Given the description of an element on the screen output the (x, y) to click on. 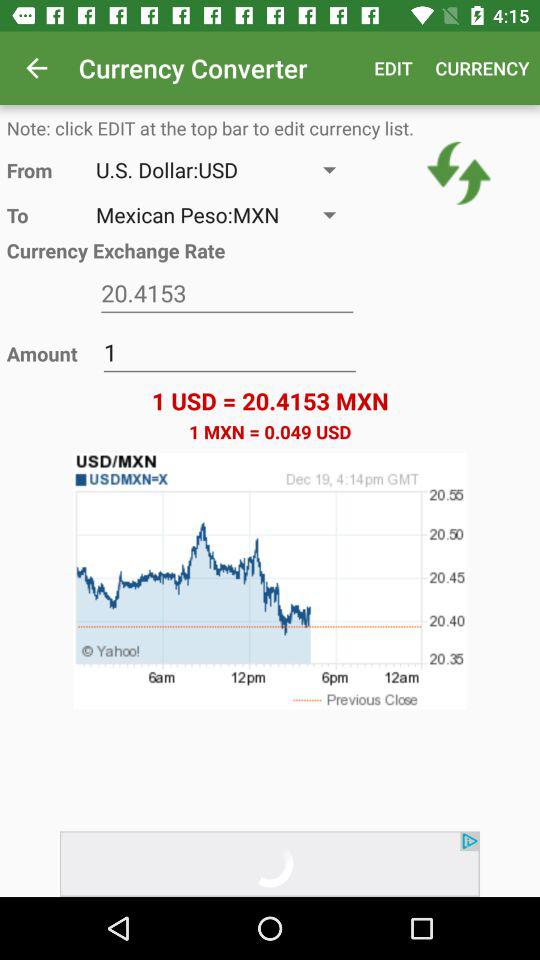
select the item next to currency converter (36, 68)
